Given the description of an element on the screen output the (x, y) to click on. 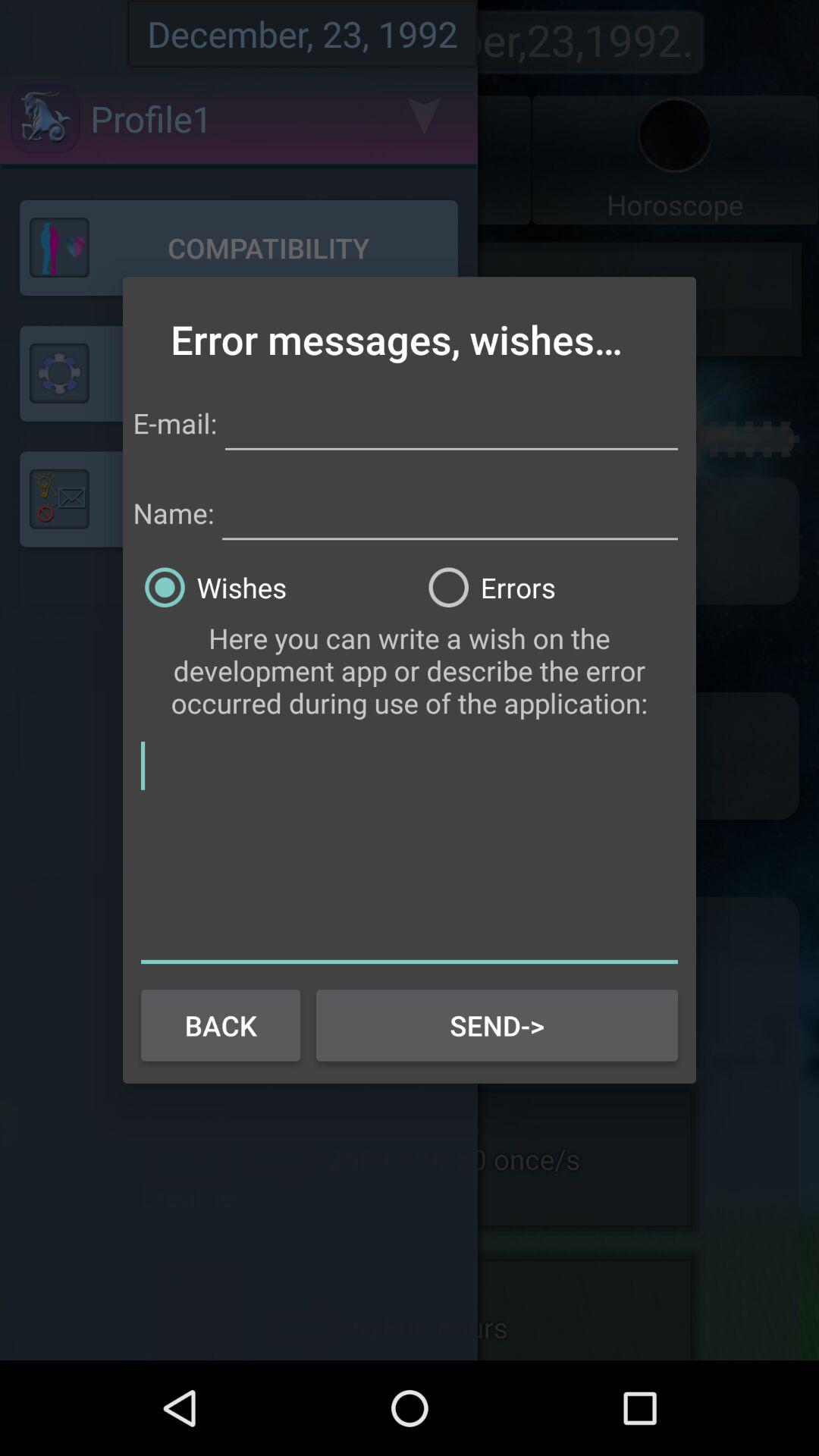
turn off the item to the right of the wishes item (550, 587)
